Given the description of an element on the screen output the (x, y) to click on. 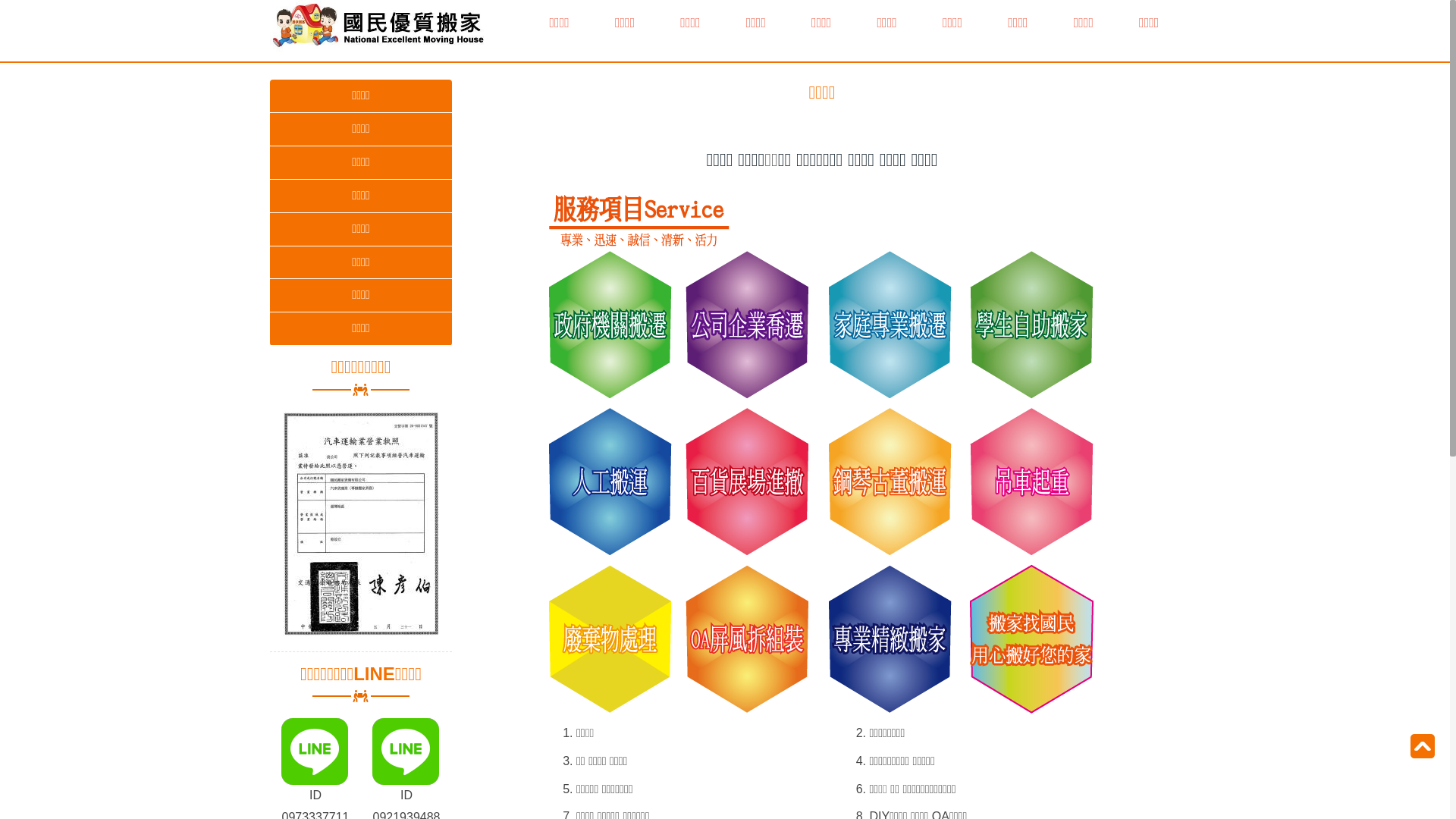
To Top Element type: text (1422, 746)
